Given the description of an element on the screen output the (x, y) to click on. 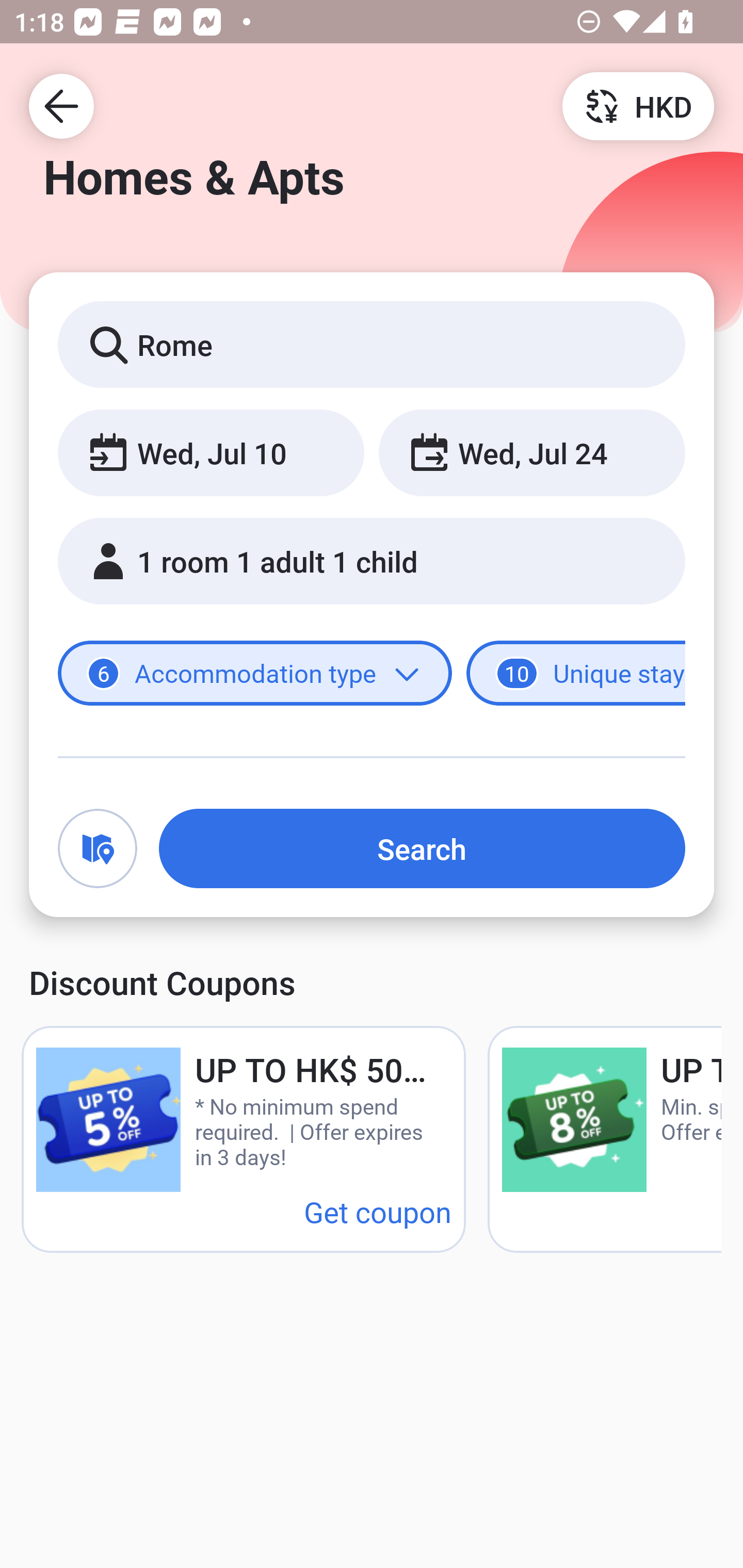
HKD (638, 105)
Rome (371, 344)
Wed, Jul 10 (210, 452)
Wed, Jul 24 (531, 452)
1 room 1 adult 1 child (371, 561)
6 Accommodation type (254, 673)
10 Unique stays (575, 673)
Search (422, 848)
Get coupon (377, 1211)
